Given the description of an element on the screen output the (x, y) to click on. 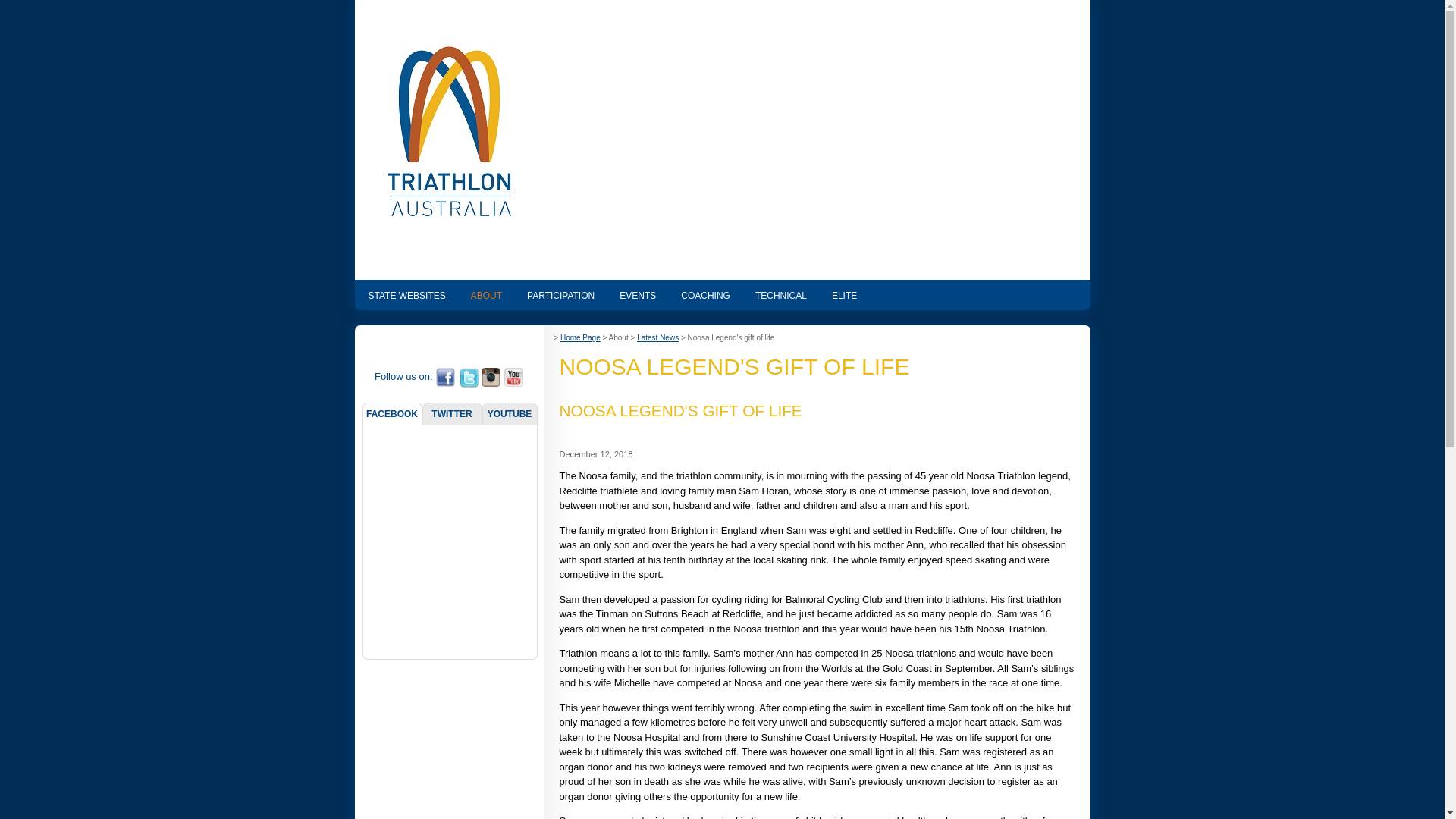
STATE WEBSITES (407, 295)
instagram (490, 376)
ABOUT (486, 295)
youtube (513, 376)
facebook (445, 376)
